Given the description of an element on the screen output the (x, y) to click on. 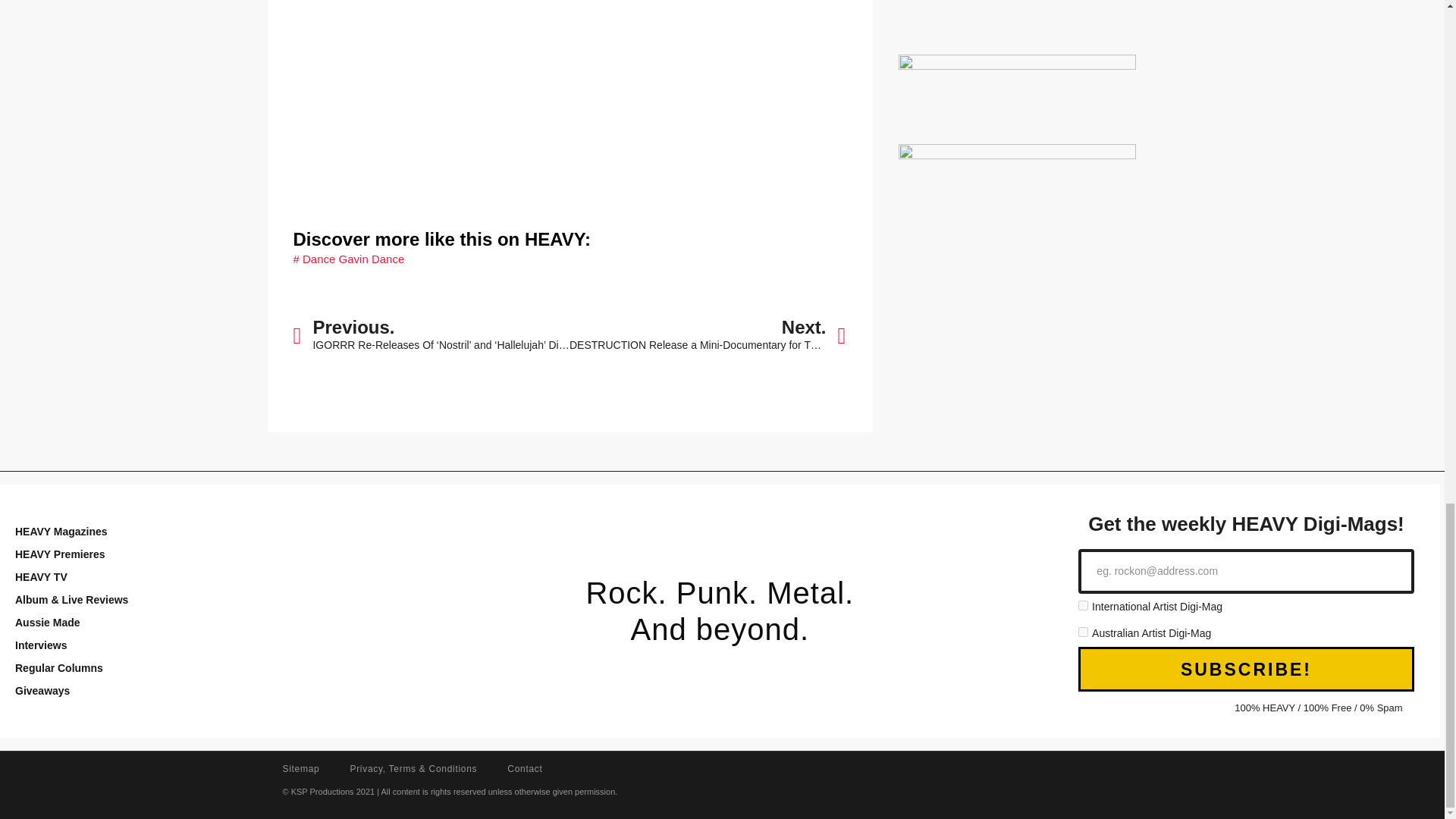
  International Artist Digi-Mag (1082, 605)
  Australian Artist Digi-Mag (1082, 632)
